Given the description of an element on the screen output the (x, y) to click on. 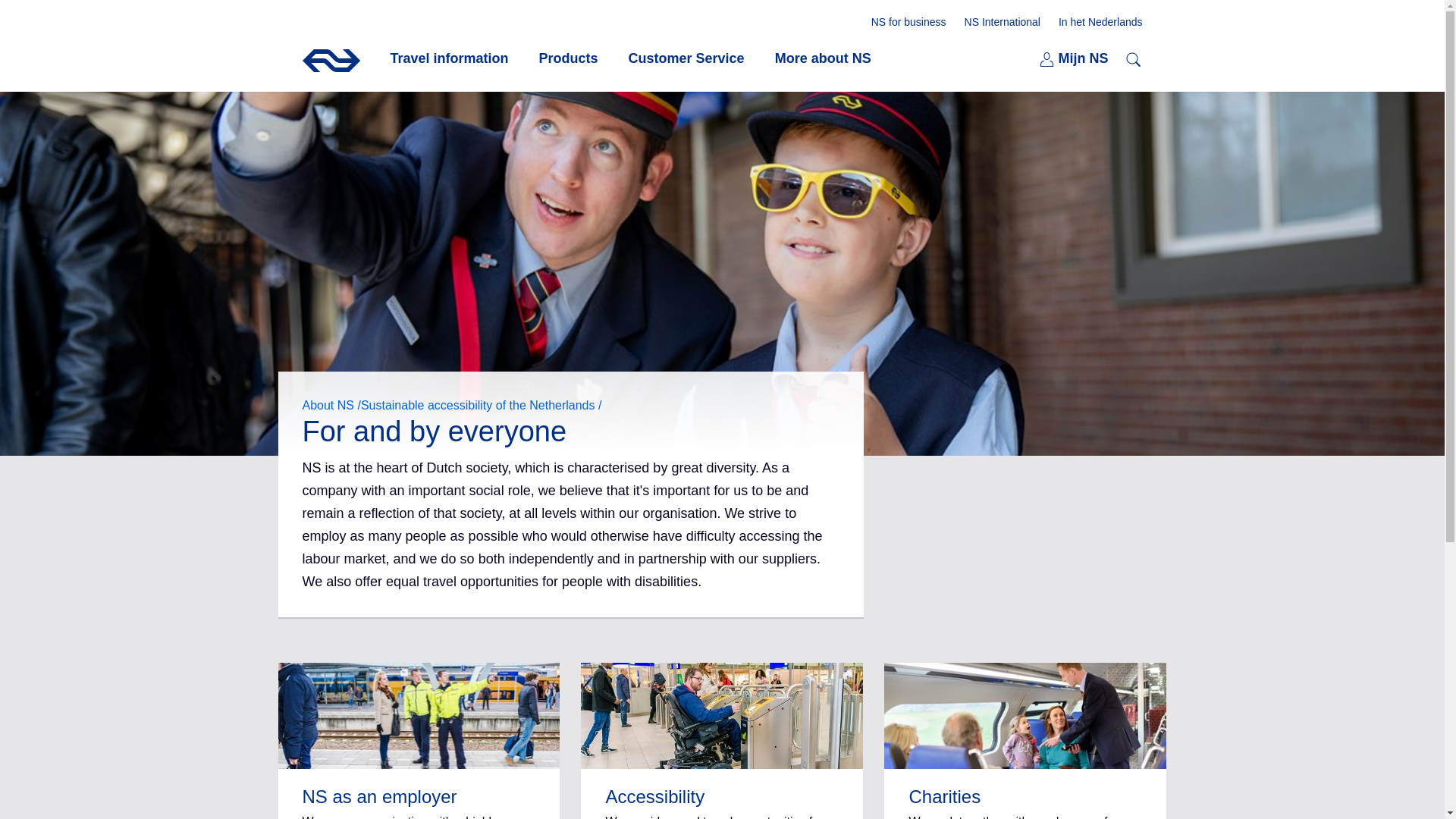
Go to the homepage of ns.nl (568, 58)
